Given the description of an element on the screen output the (x, y) to click on. 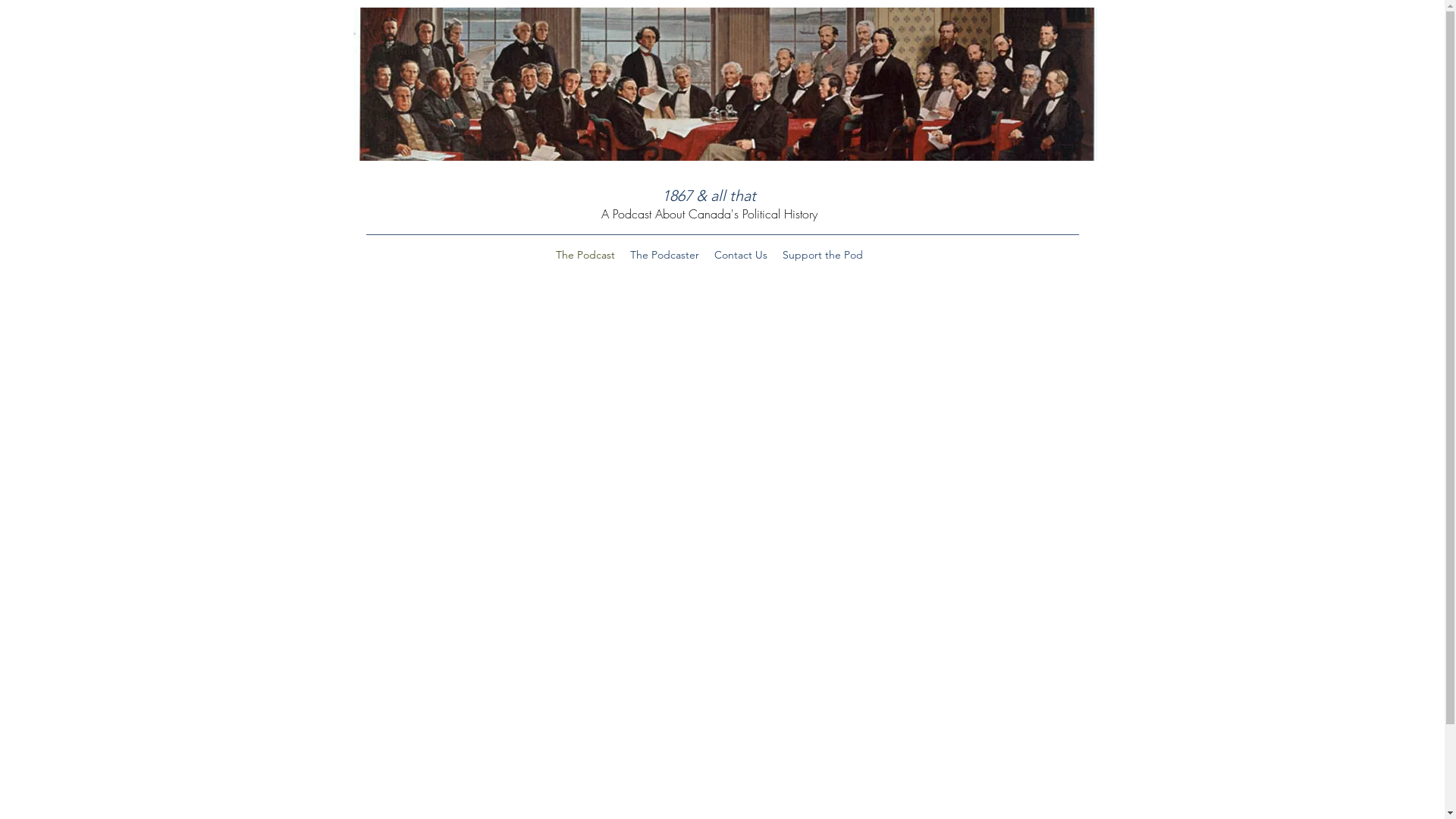
The Podcaster Element type: text (664, 254)
The Podcast Element type: text (585, 254)
Contact Us Element type: text (740, 254)
Support the Pod Element type: text (822, 254)
